Given the description of an element on the screen output the (x, y) to click on. 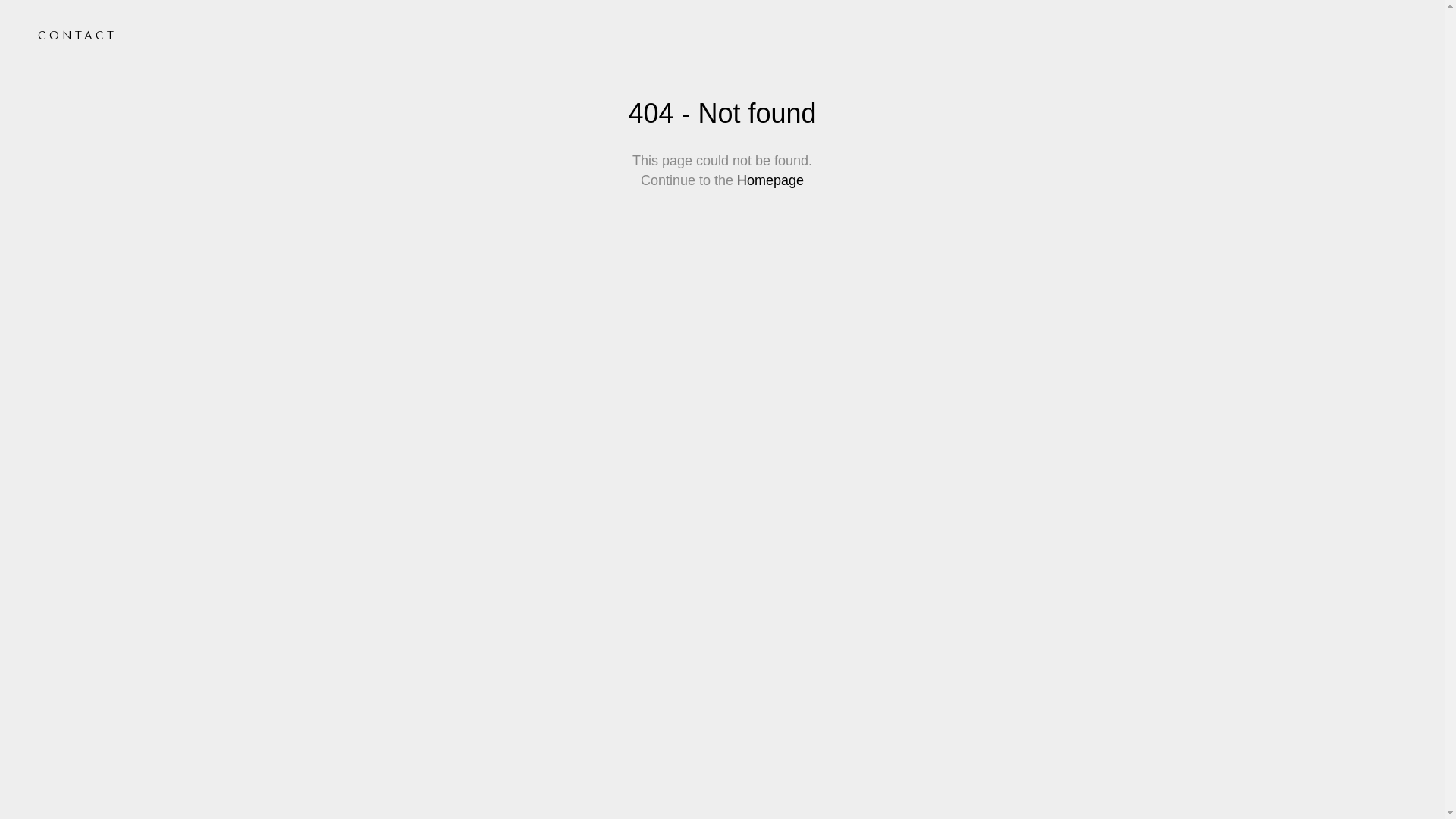
Homepage Element type: text (770, 180)
CONTACT Element type: text (76, 36)
